Given the description of an element on the screen output the (x, y) to click on. 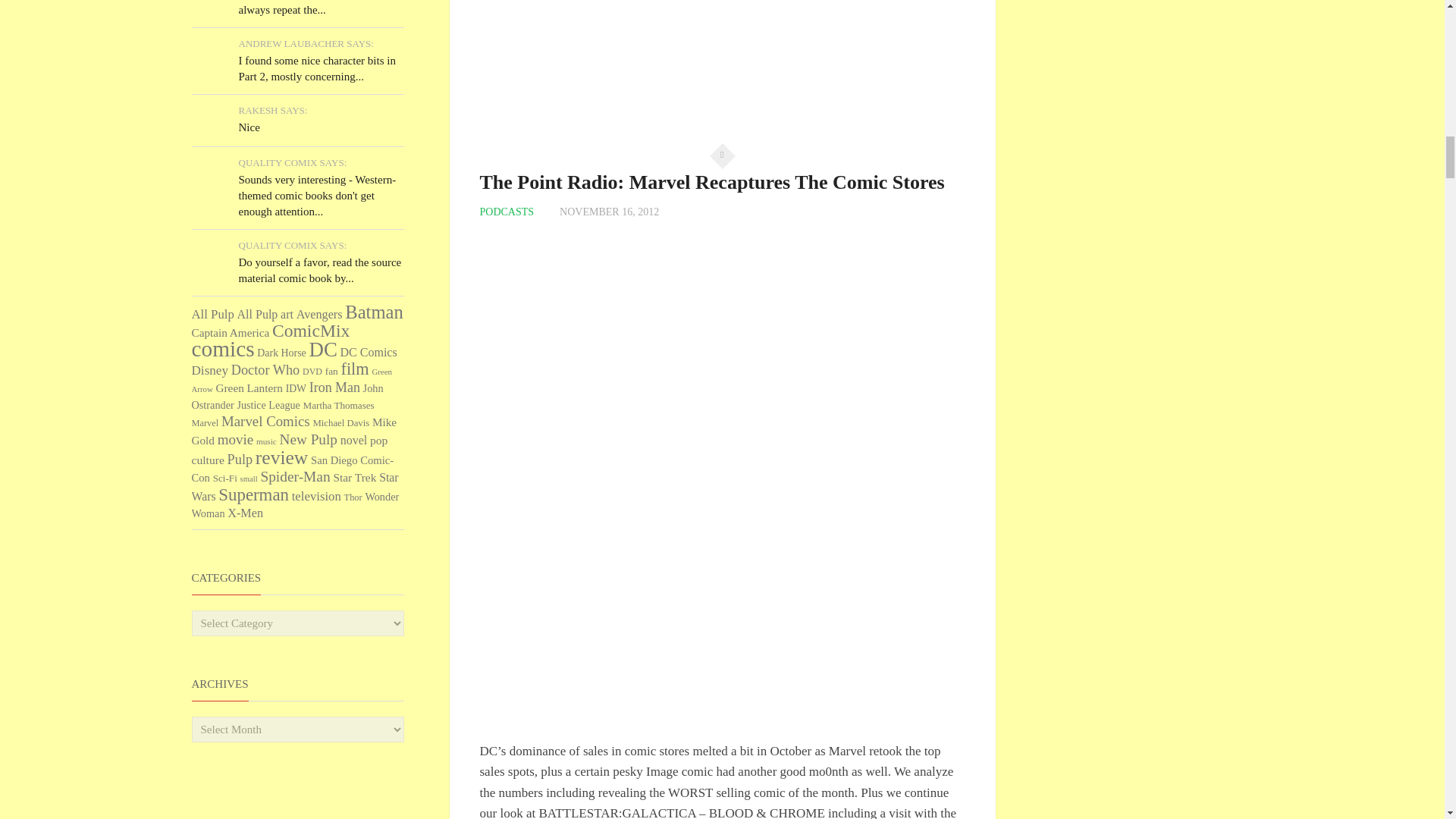
PODCASTS (506, 211)
The Point Radio: Marvel Recaptures The Comic Stores (711, 182)
